Given the description of an element on the screen output the (x, y) to click on. 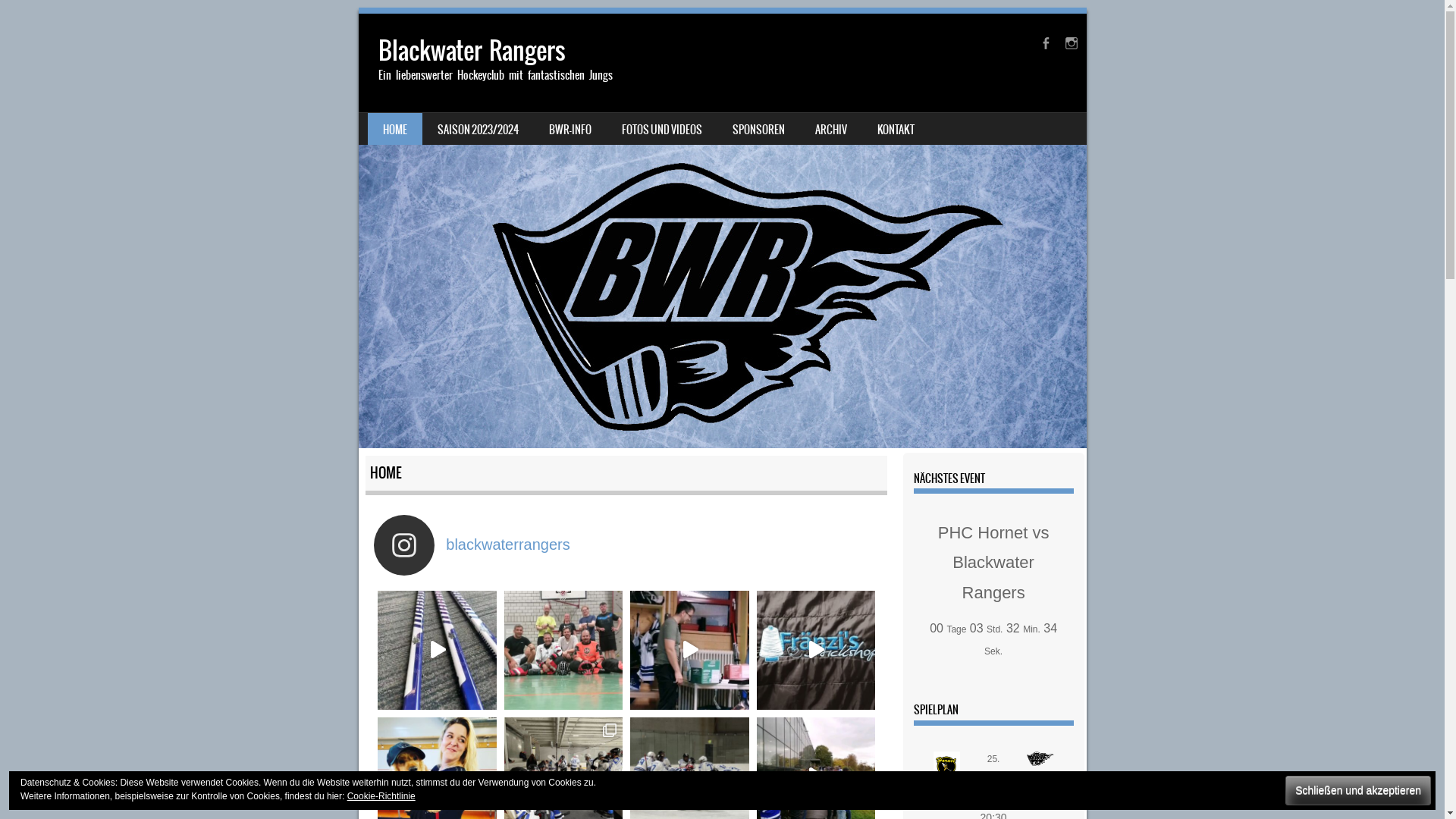
Blackwater Rangers Element type: hover (721, 230)
HOME Element type: text (394, 128)
KONTAKT Element type: text (894, 128)
SPONSOREN Element type: text (758, 128)
PHC Hornet Element type: hover (946, 769)
SAISON 2023/2024 Element type: text (477, 128)
ARCHIV Element type: text (830, 128)
Blackwater Rangers Element type: hover (1040, 769)
Cookie-Richtlinie Element type: text (381, 795)
SKIP TO CONTENT Element type: text (393, 122)
BWR-INFO Element type: text (569, 128)
FOTOS UND VIDEOS Element type: text (661, 128)
25. November 2023 Element type: text (992, 775)
Blackwater Rangers Element type: text (471, 50)
blackwaterrangers Element type: text (629, 544)
PHC Hornet vs Blackwater Rangers Element type: text (993, 562)
